Given the description of an element on the screen output the (x, y) to click on. 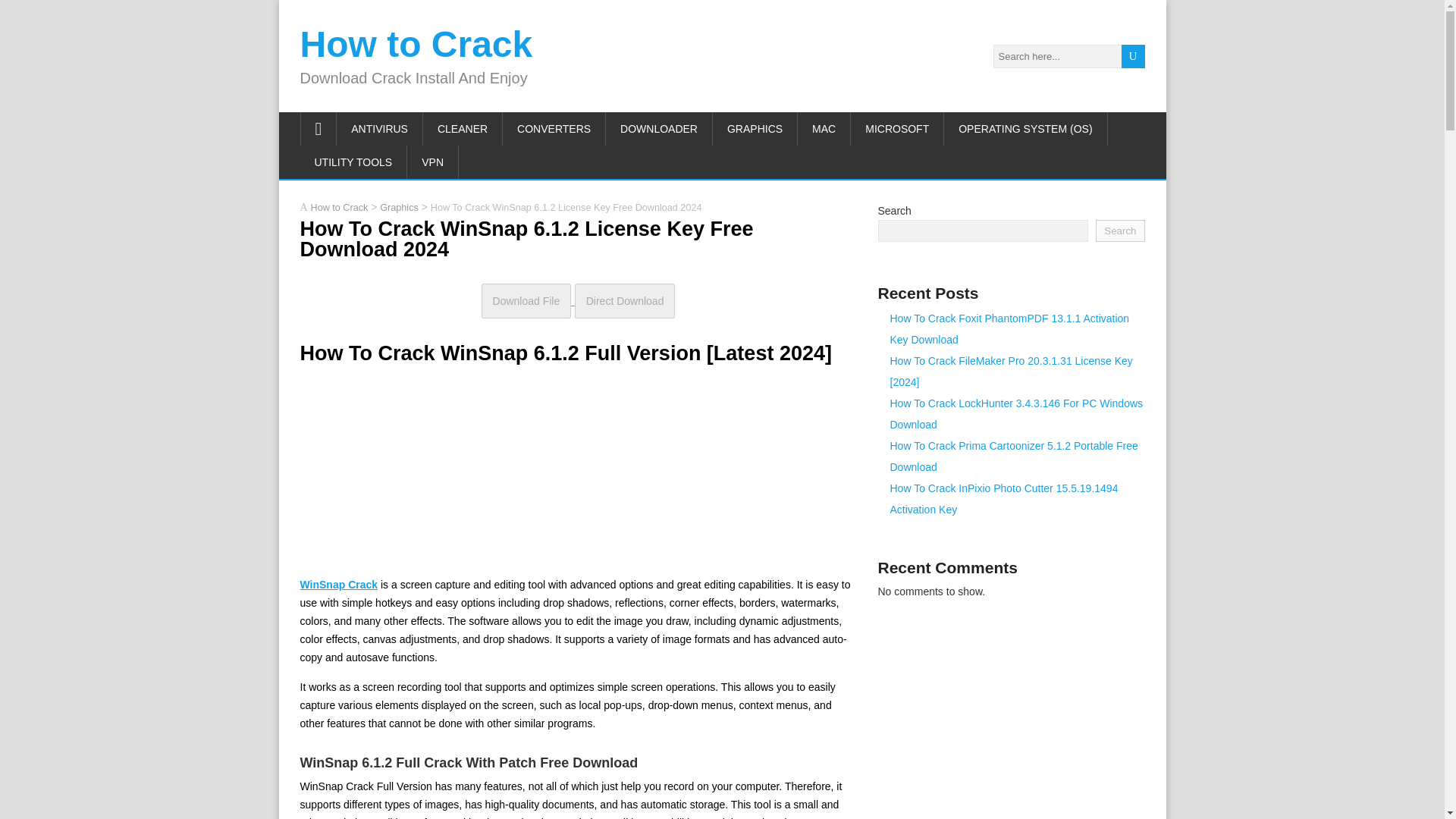
UTILITY TOOLS (353, 162)
U (1132, 56)
MICROSOFT (896, 128)
How to Crack (339, 206)
Graphics (399, 206)
U (1132, 56)
GRAPHICS (755, 128)
U (1132, 56)
Download File Direct Download (578, 300)
VPN (432, 162)
DOWNLOADER (659, 128)
Download File (526, 300)
Go to the Graphics Category archives. (399, 206)
MAC (823, 128)
ANTIVIRUS (379, 128)
